Given the description of an element on the screen output the (x, y) to click on. 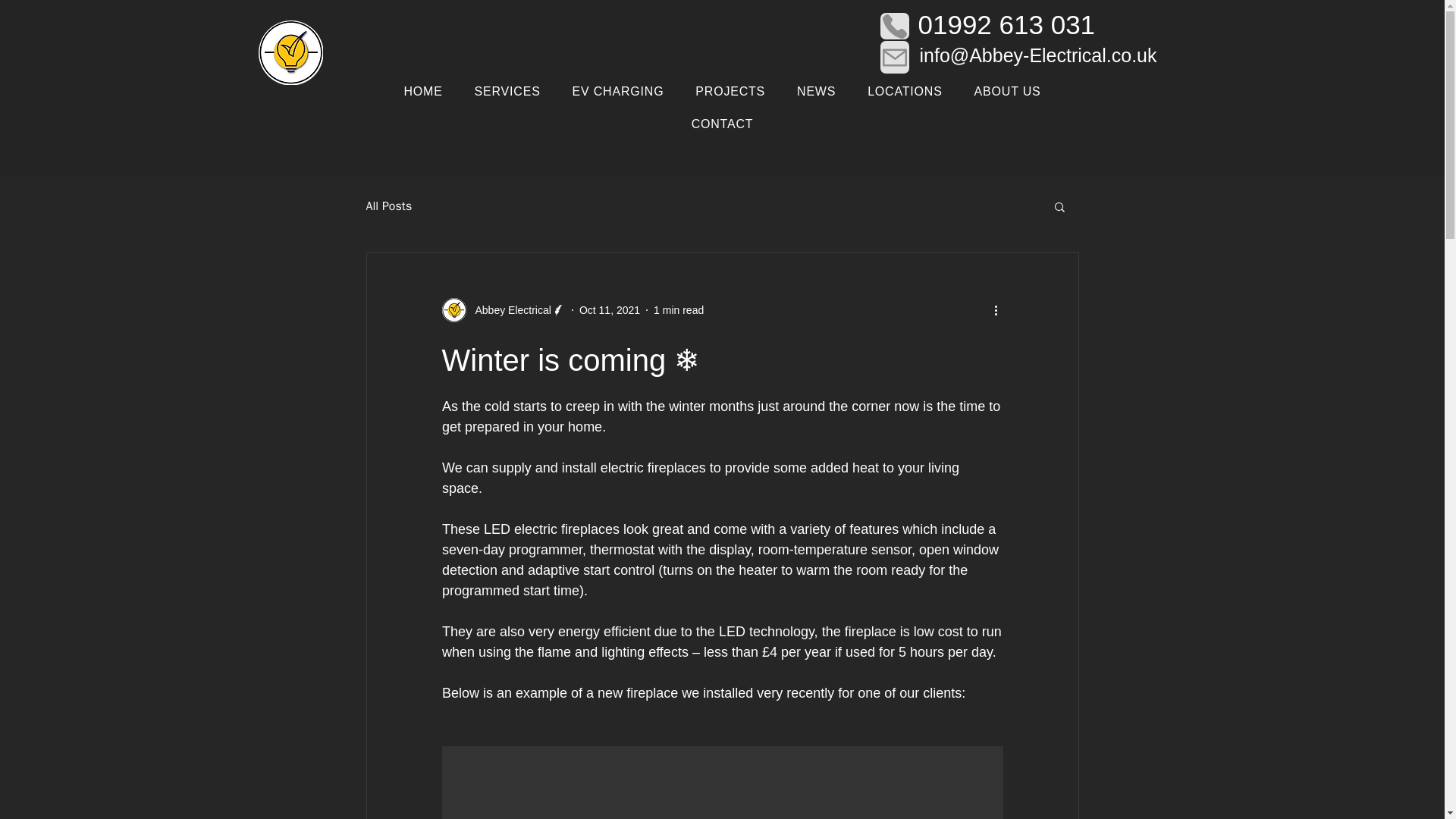
1 min read (678, 309)
SERVICES (507, 91)
PROJECTS (729, 91)
01992 613 031 (1005, 24)
CONTACT (722, 124)
Oct 11, 2021 (609, 309)
Abbey Electrical (502, 310)
LOCATIONS (904, 91)
All Posts (388, 206)
HOME (423, 91)
